Given the description of an element on the screen output the (x, y) to click on. 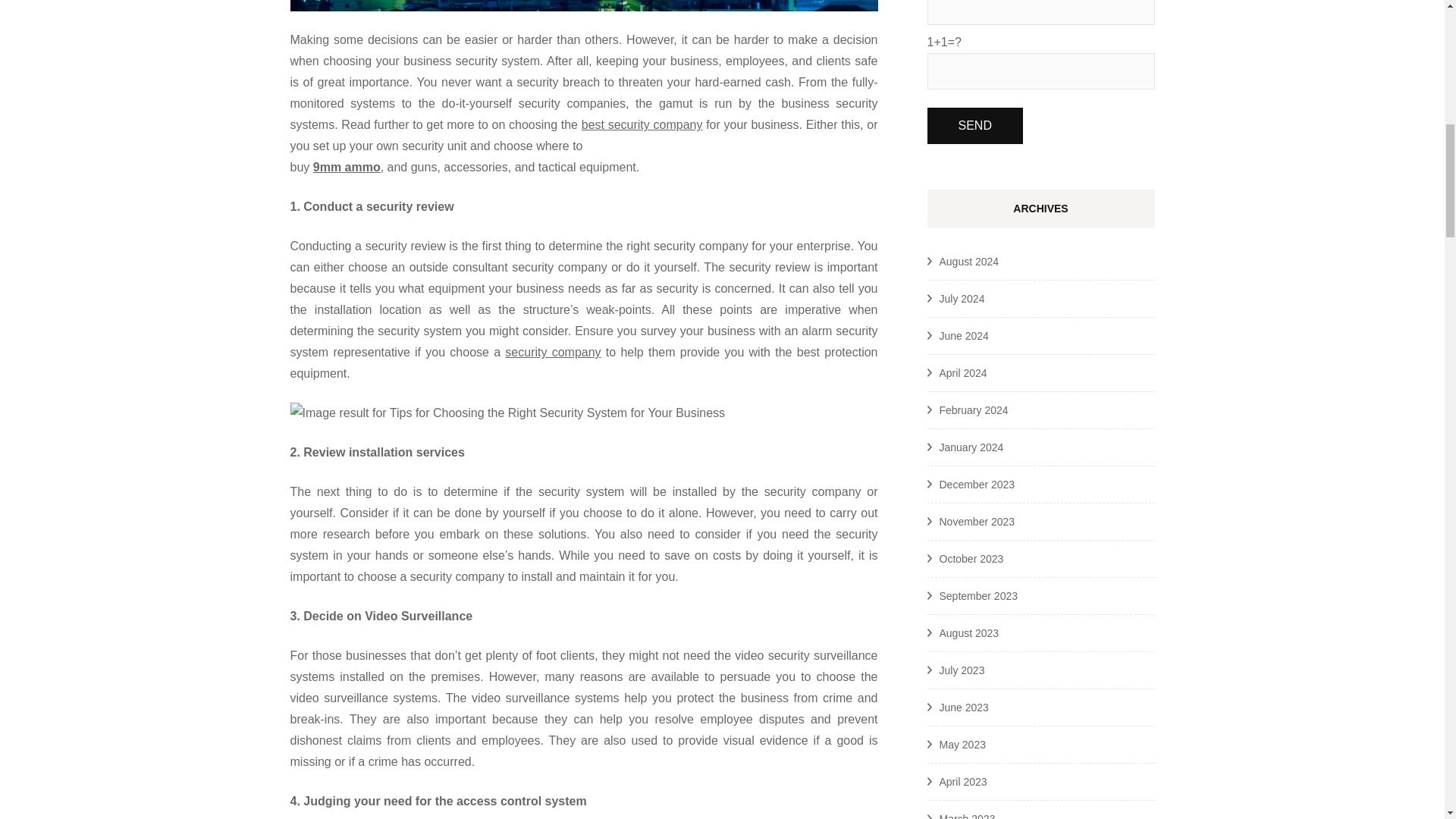
best security company (641, 124)
security company (552, 351)
9mm ammo (346, 166)
Send (974, 125)
